Given the description of an element on the screen output the (x, y) to click on. 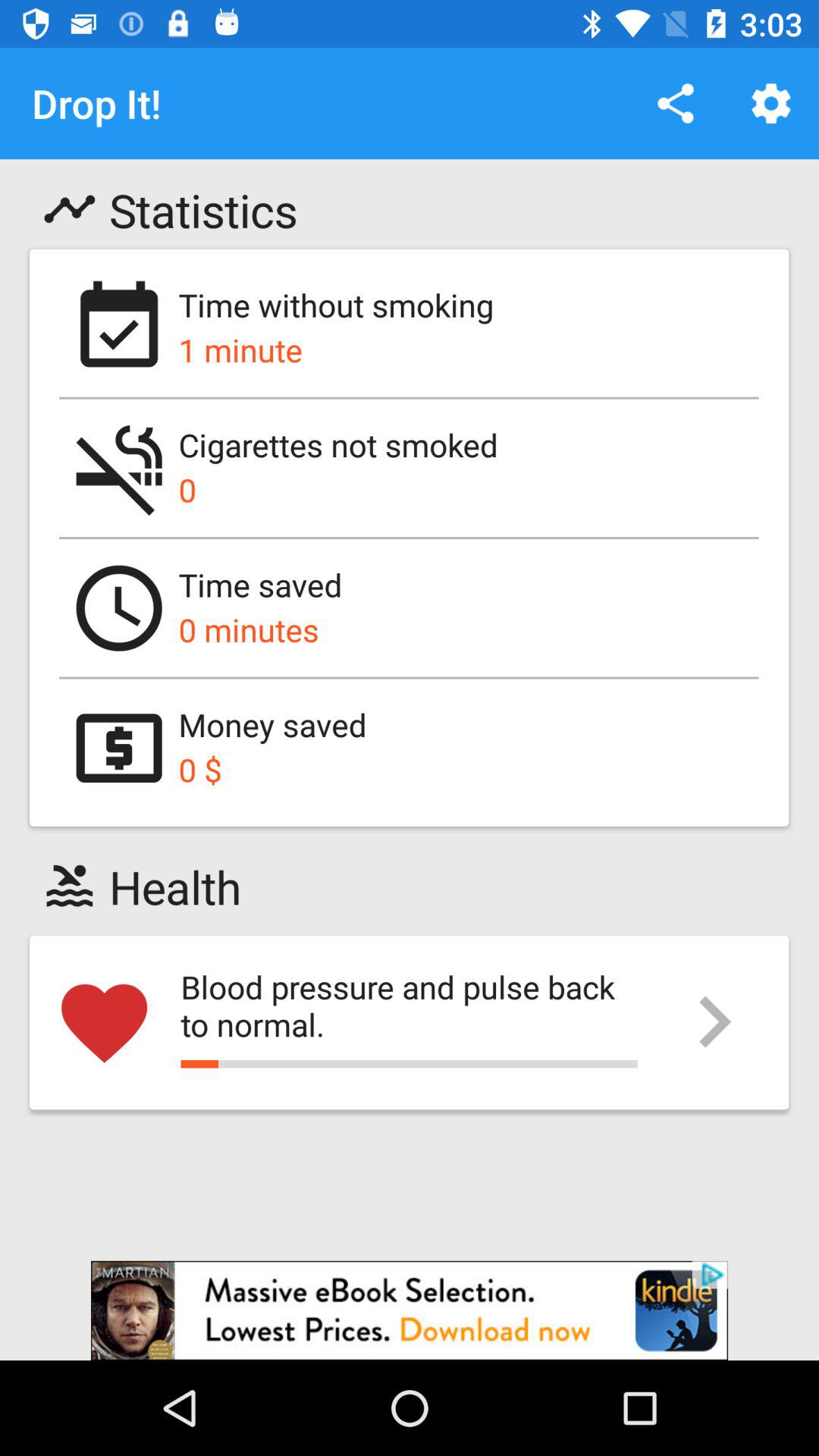
go to advertisement (409, 1310)
